Given the description of an element on the screen output the (x, y) to click on. 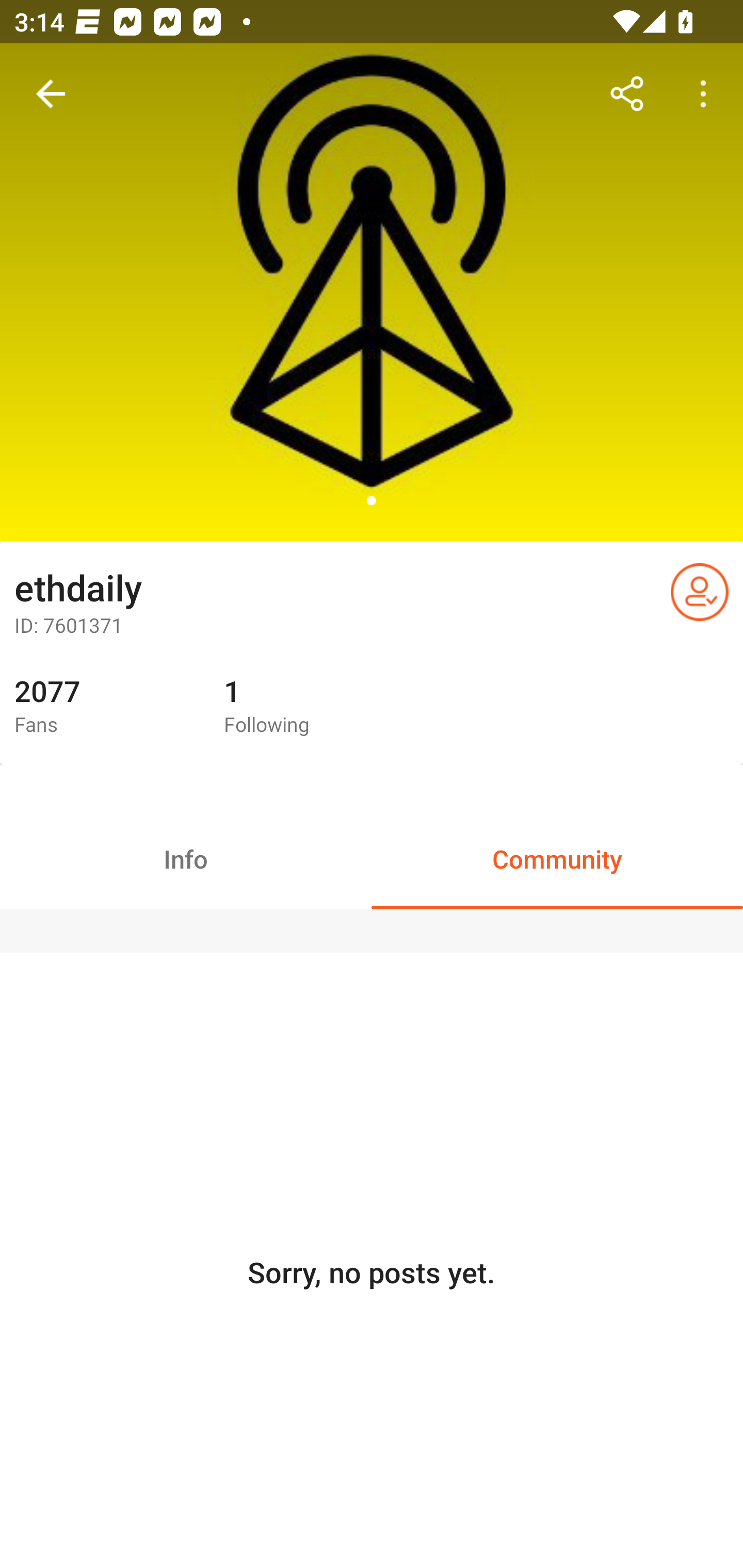
Navigate up (50, 93)
Share (626, 93)
More options (706, 93)
2077 Fans (104, 707)
1 Following (313, 707)
Info (185, 858)
Community (557, 858)
